Given the description of an element on the screen output the (x, y) to click on. 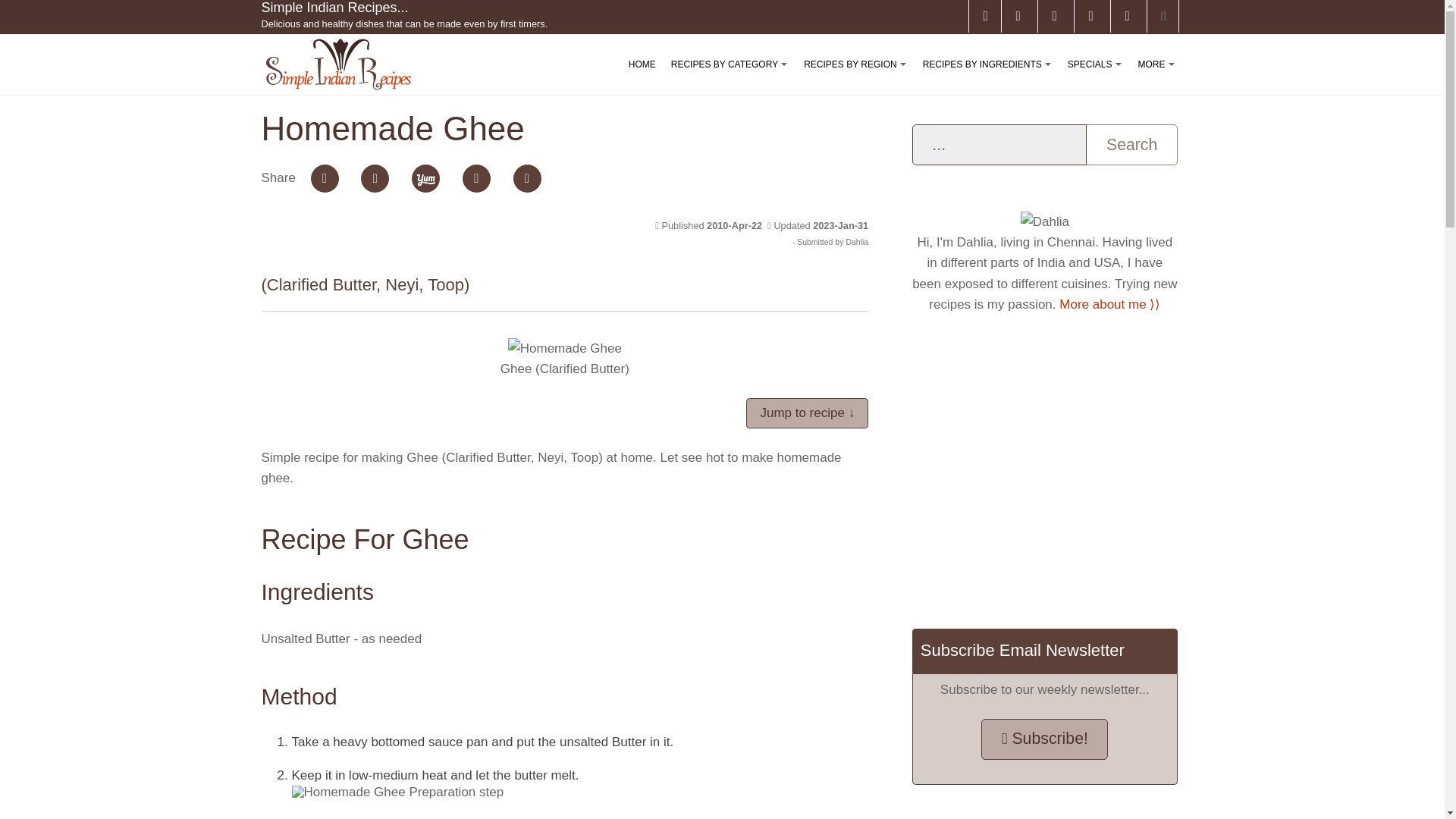
Search (1131, 144)
Advertisement (1044, 470)
Share on Twitter (374, 178)
Share on Facebook (325, 178)
Print (527, 178)
Simple Indian Recipes (337, 64)
Share on Yummly (425, 178)
Email (476, 178)
